Given the description of an element on the screen output the (x, y) to click on. 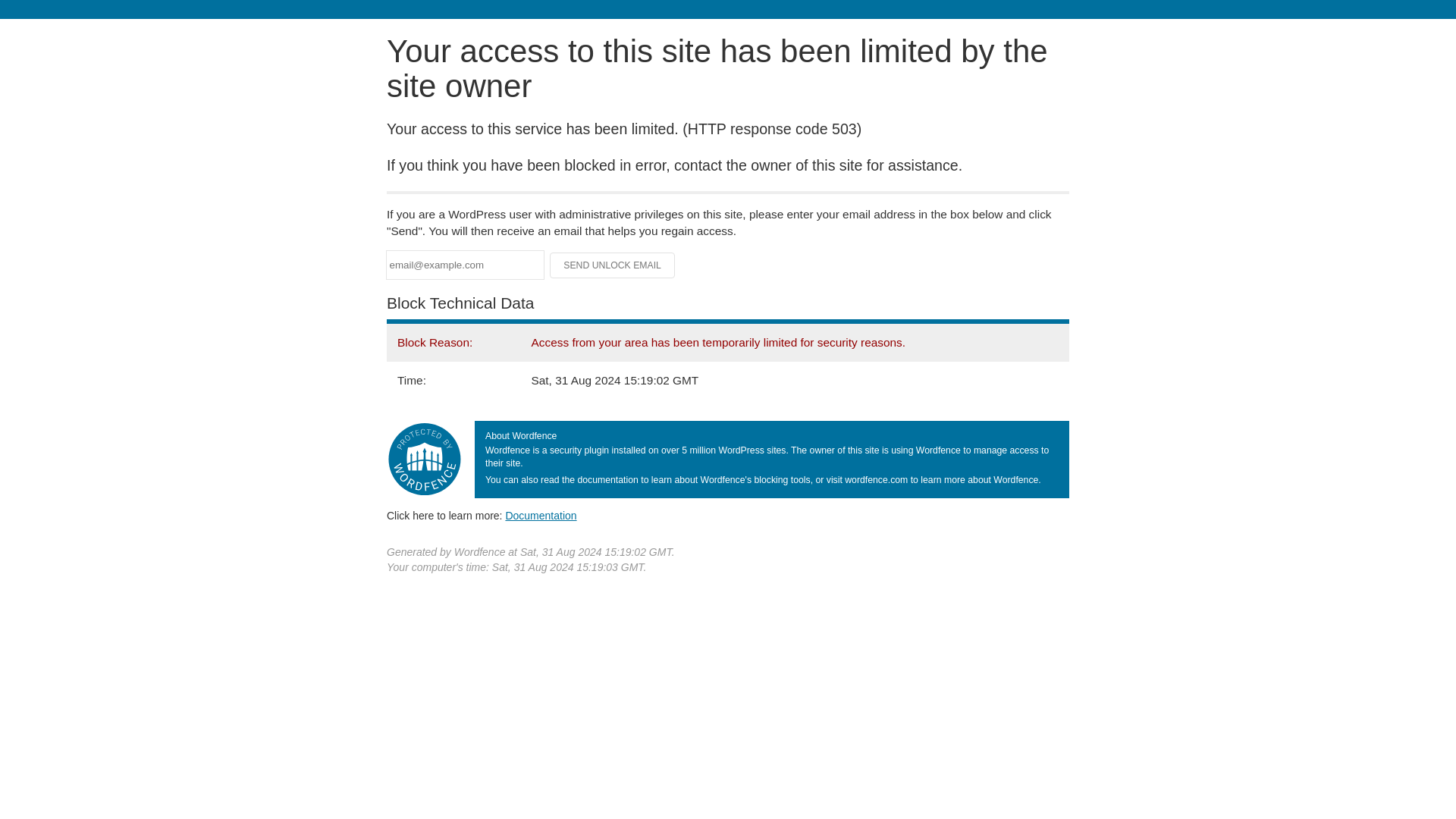
Documentation (540, 515)
Send Unlock Email (612, 265)
Send Unlock Email (612, 265)
